Given the description of an element on the screen output the (x, y) to click on. 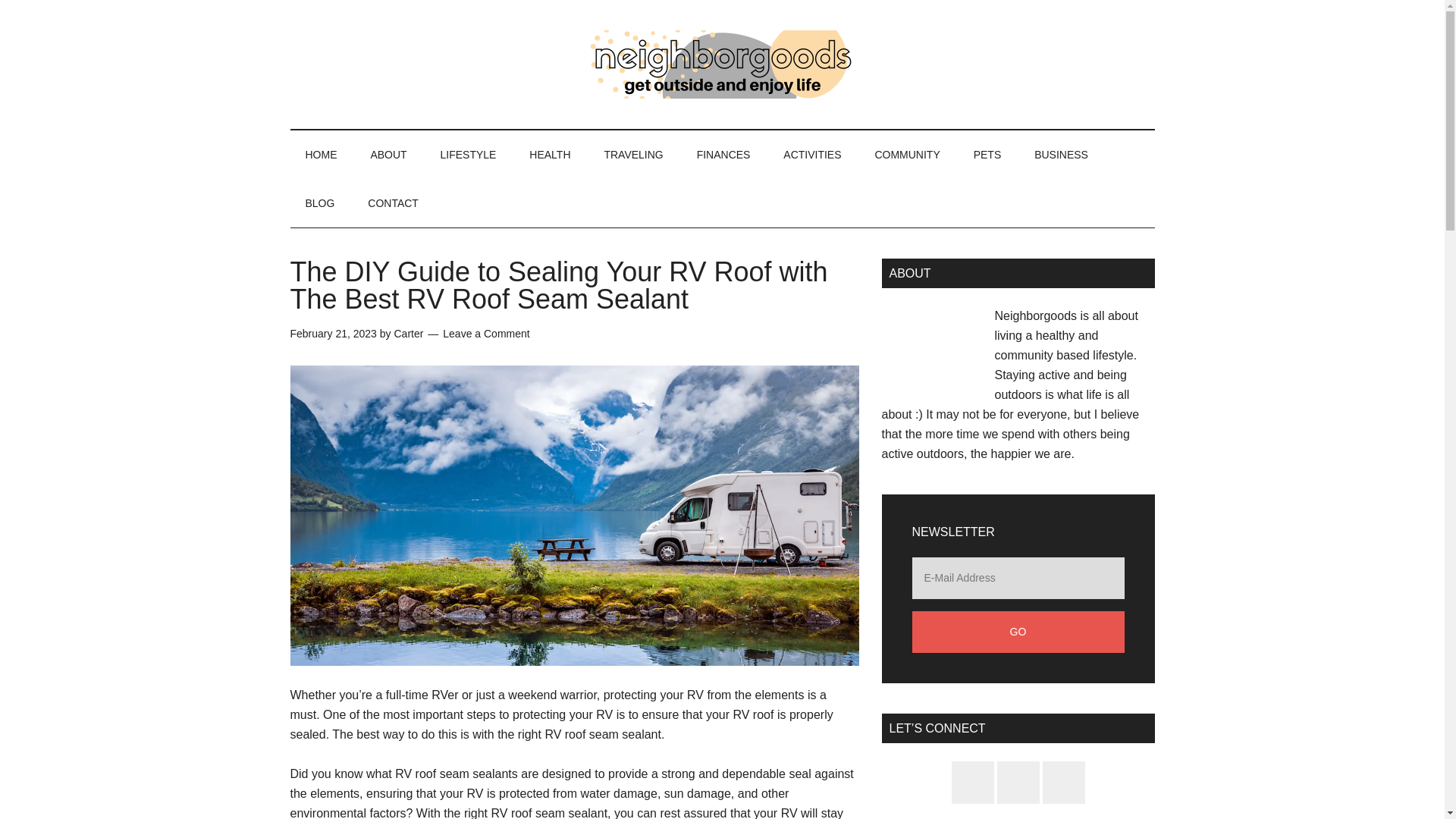
Go (1017, 631)
ACTIVITIES (812, 154)
CONTACT (392, 203)
FINANCES (723, 154)
HEALTH (549, 154)
HOME (320, 154)
COMMUNITY (907, 154)
Leave a Comment (485, 333)
TRAVELING (633, 154)
PETS (987, 154)
